Given the description of an element on the screen output the (x, y) to click on. 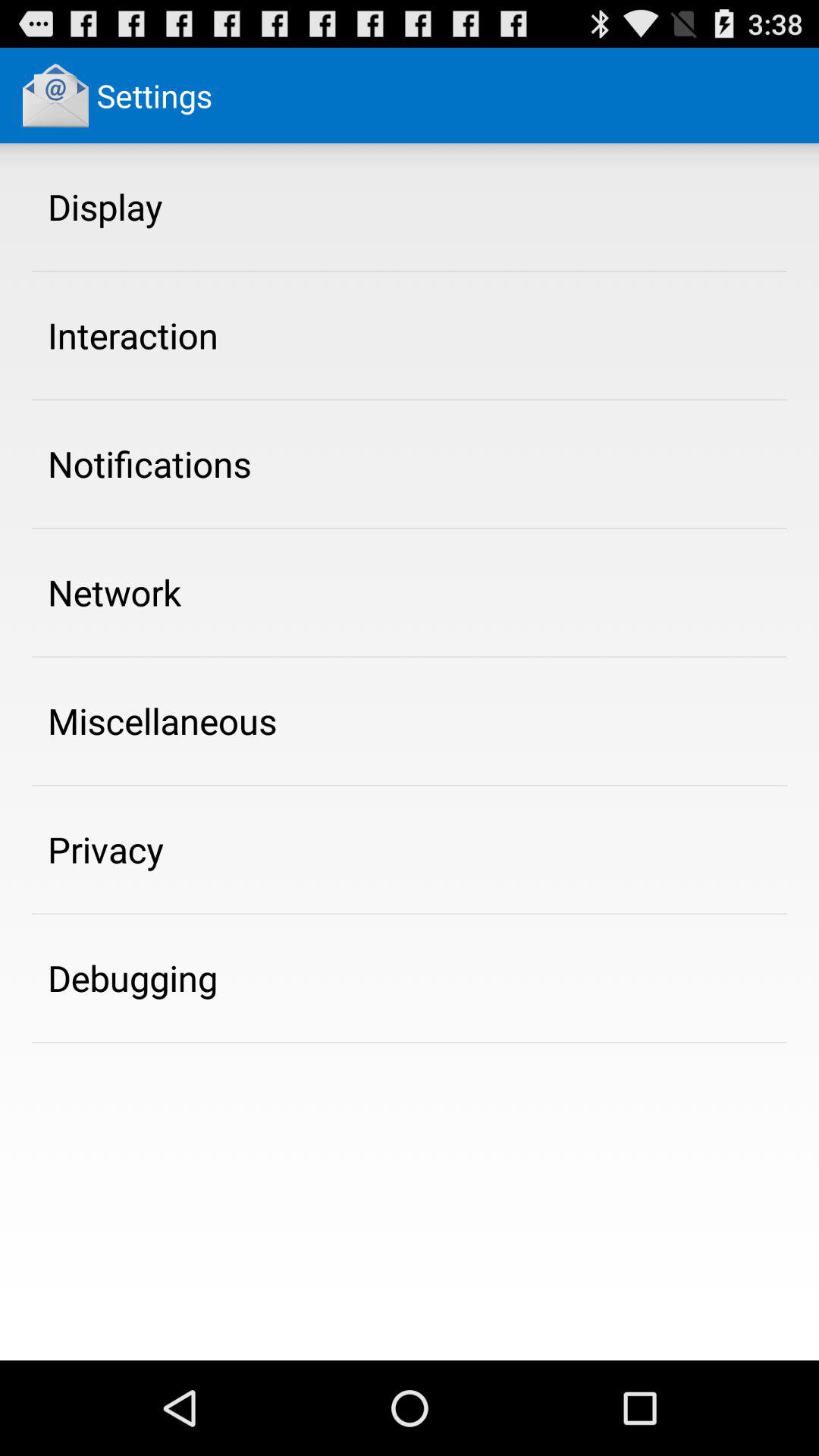
press the display icon (104, 206)
